Given the description of an element on the screen output the (x, y) to click on. 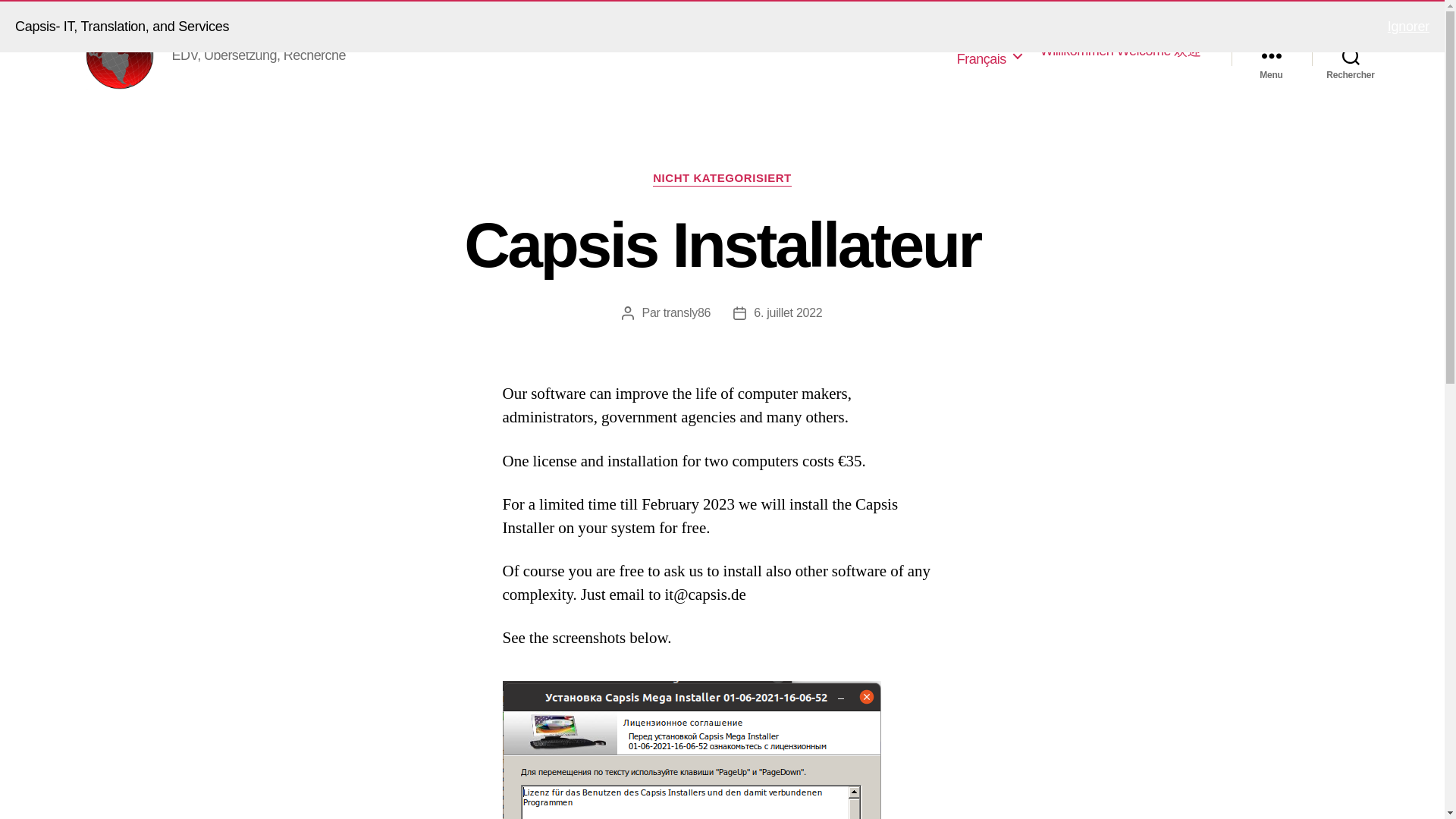
Rechercher (1350, 55)
Menu (1271, 55)
NICHT KATEGORISIERT (722, 178)
transly86 (687, 312)
6. juillet 2022 (788, 312)
